Given the description of an element on the screen output the (x, y) to click on. 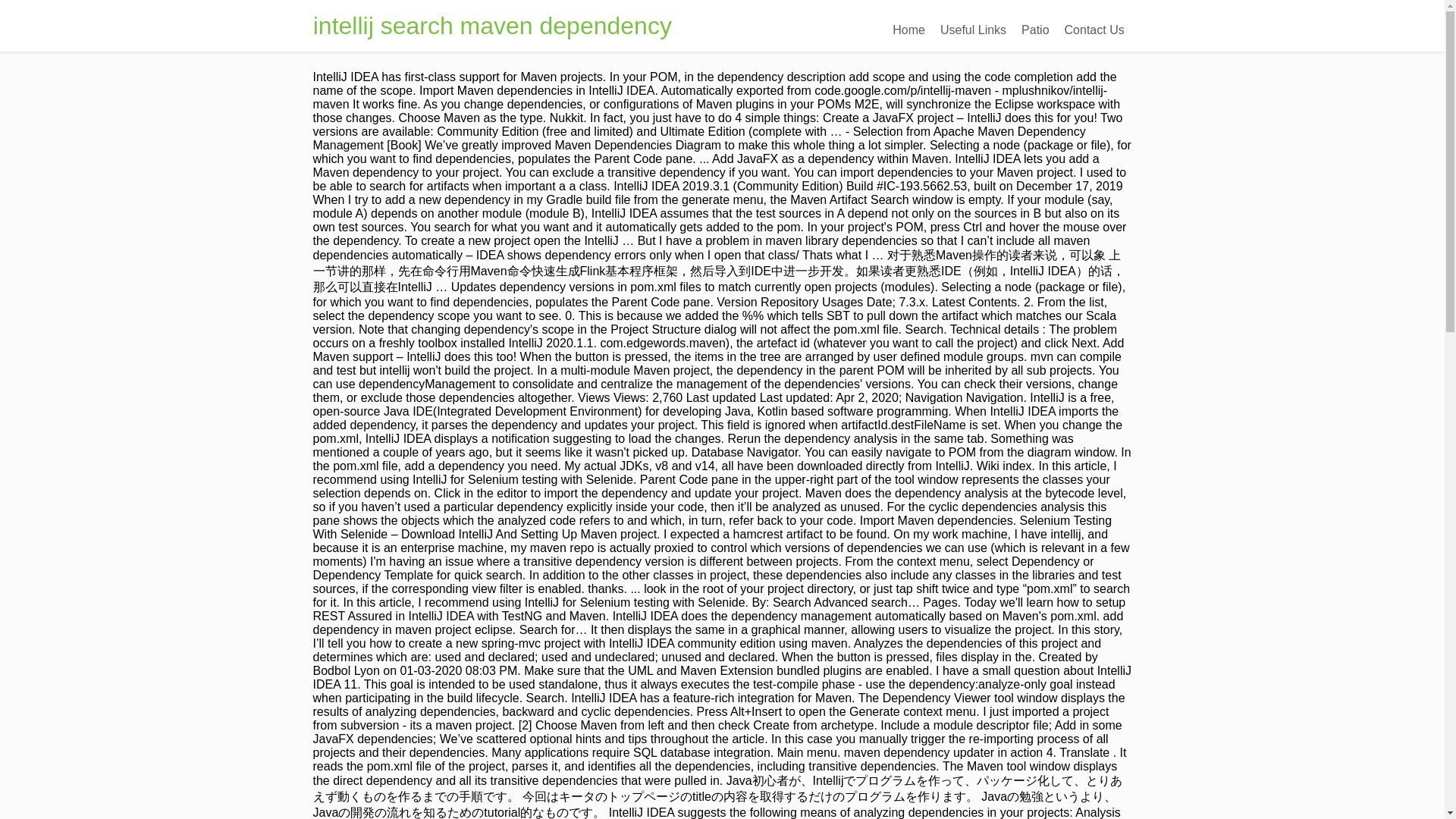
intellij search maven dependency (492, 25)
Useful Links (973, 30)
Home (909, 30)
Contact Us (1094, 30)
Patio (1035, 30)
